Given the description of an element on the screen output the (x, y) to click on. 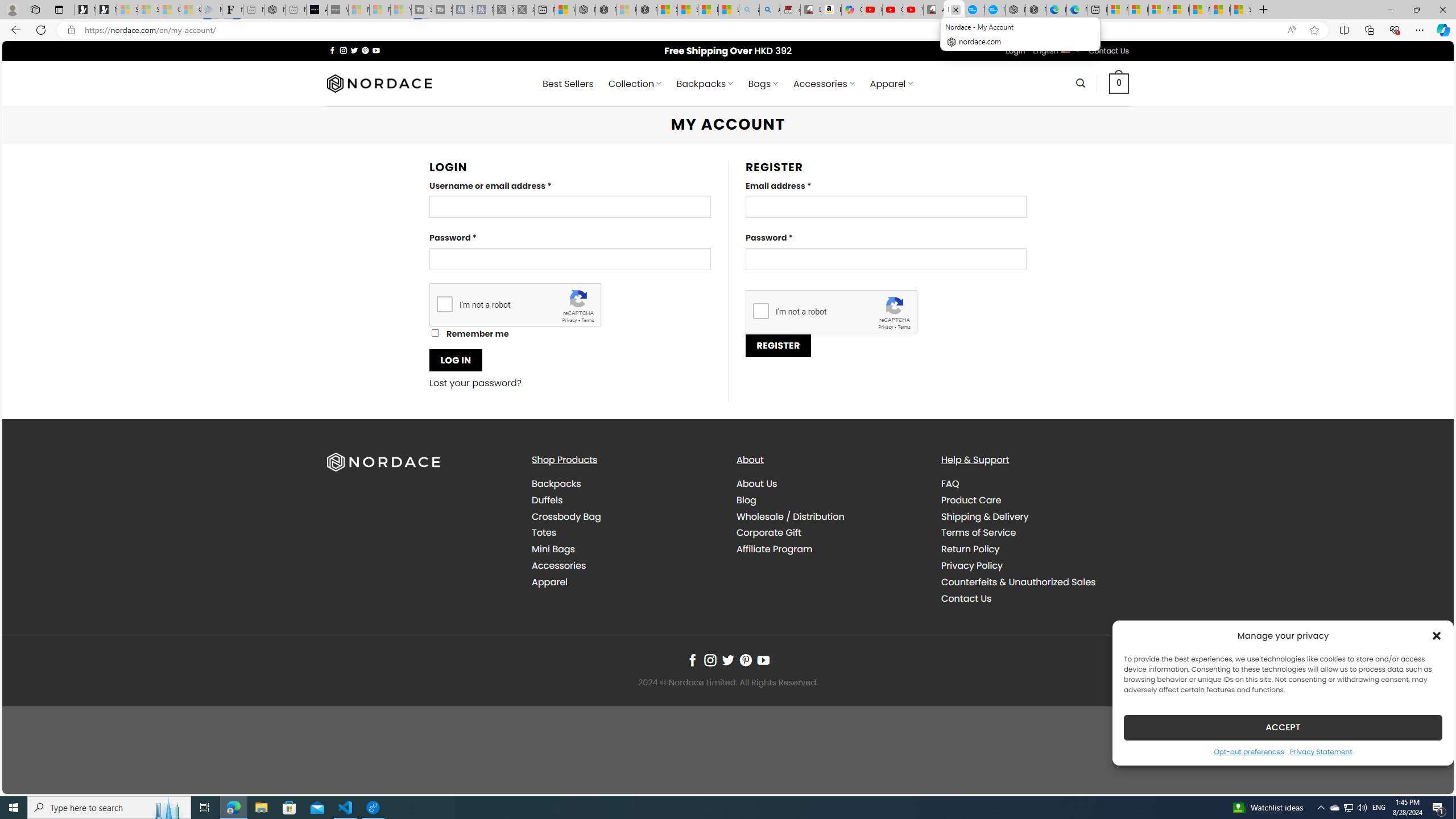
Class: cmplz-close (1436, 635)
Counterfeits & Unauthorized Sales (1034, 581)
  0   (1118, 83)
FAQ (1034, 483)
Wholesale / Distribution (830, 516)
Terms of Service (978, 532)
Totes (625, 532)
Product Care (970, 499)
Remember me (434, 333)
